Given the description of an element on the screen output the (x, y) to click on. 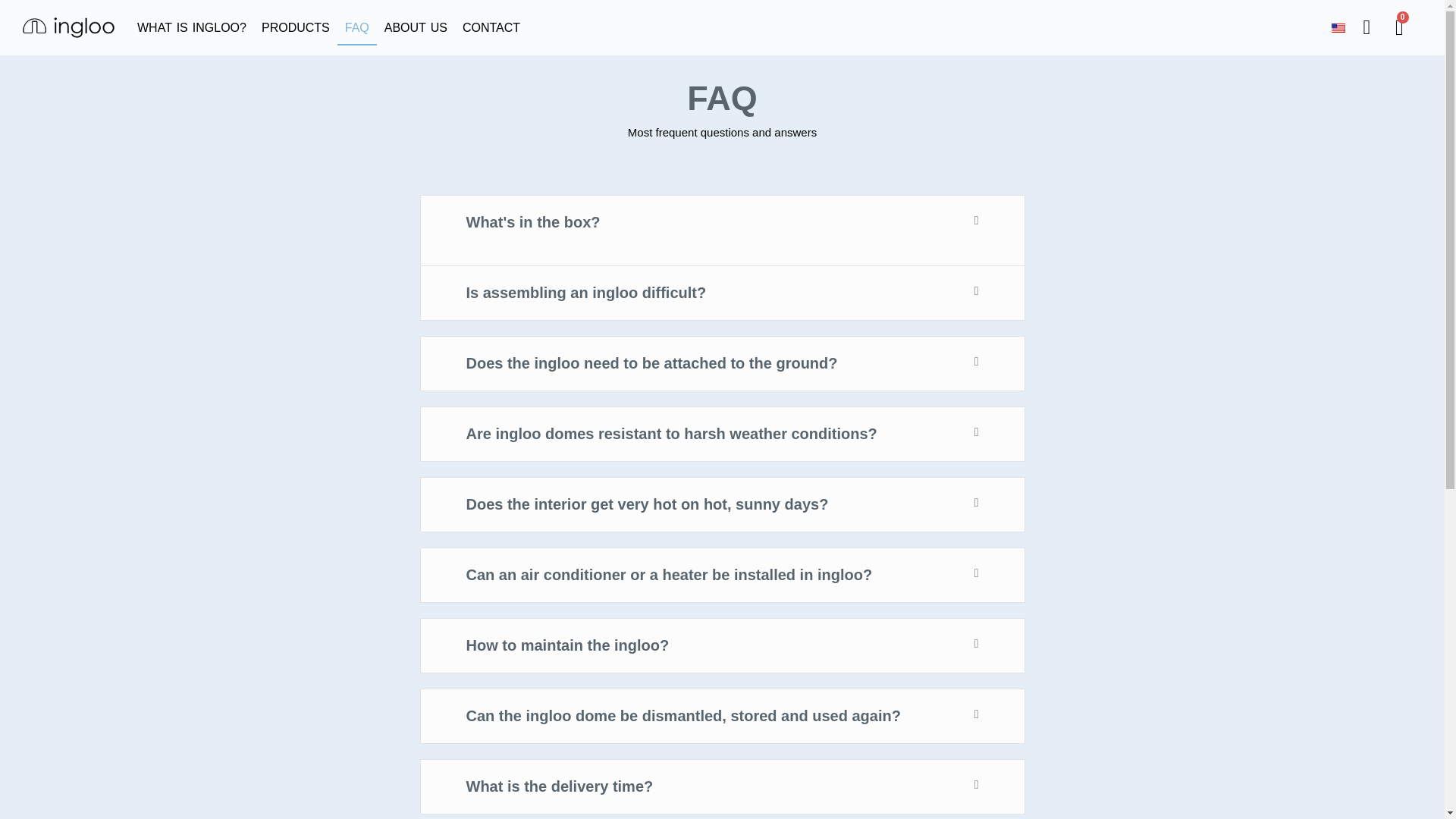
Is assembling an ingloo difficult? (585, 292)
CONTACT (490, 27)
English (1338, 26)
Does the ingloo need to be attached to the ground? (651, 362)
PRODUCTS (295, 27)
WHAT IS INGLOO? (191, 27)
ABOUT US (415, 27)
What's in the box? (532, 221)
FAQ (357, 27)
0 (1399, 27)
